Given the description of an element on the screen output the (x, y) to click on. 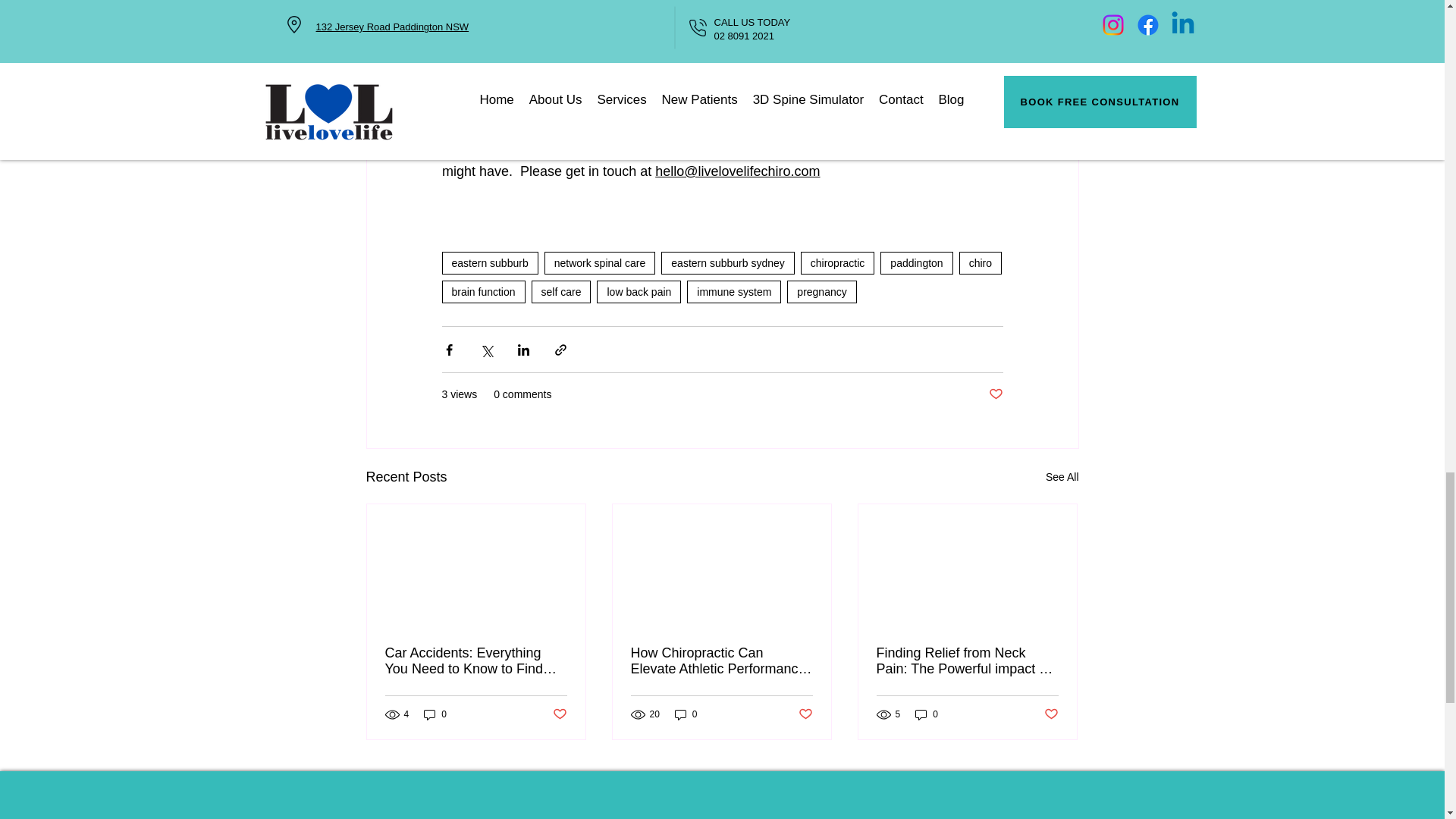
immune system (733, 291)
Post not marked as liked (558, 714)
self care (561, 291)
low back pain (638, 291)
0 (435, 714)
eastern subburb (489, 262)
eastern subburb sydney (727, 262)
See All (1061, 477)
paddington (916, 262)
Post not marked as liked (995, 394)
